Given the description of an element on the screen output the (x, y) to click on. 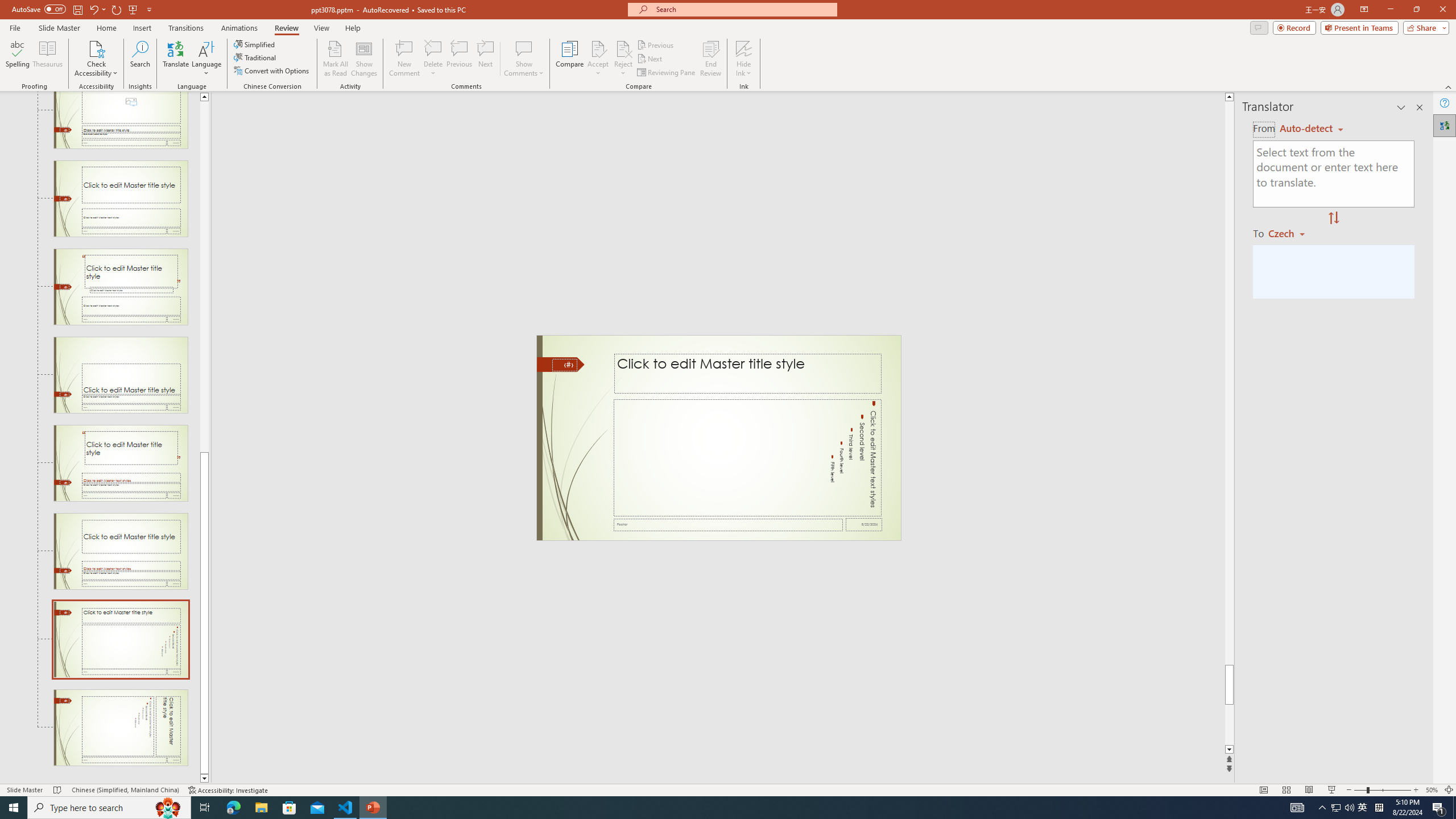
Freeform 11 (561, 364)
Slide Name Card Layout: used by no slides (120, 374)
Slide Vertical Title and Text Layout: used by no slides (120, 727)
